Given the description of an element on the screen output the (x, y) to click on. 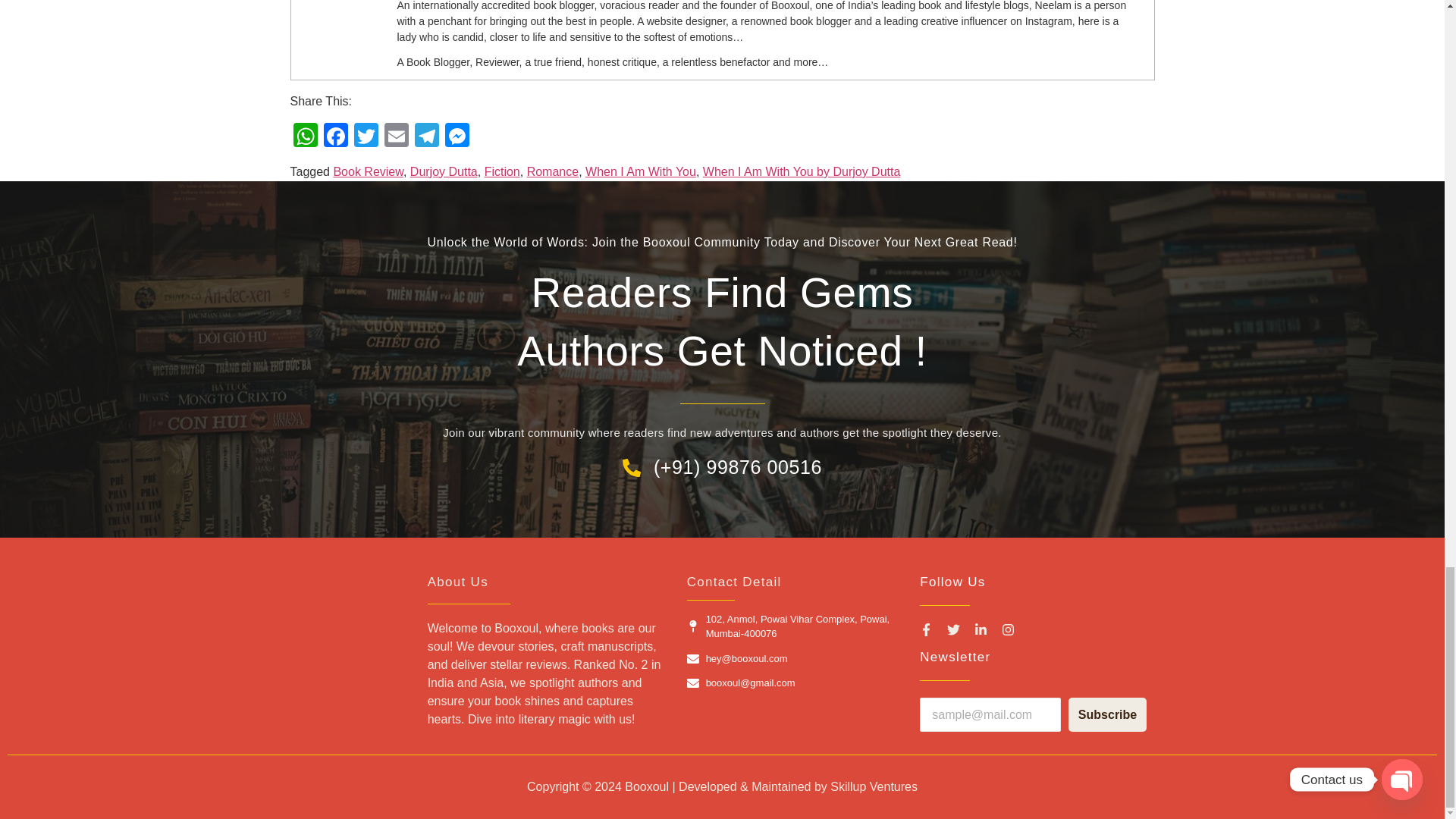
Twitter (365, 136)
Telegram (425, 136)
WhatsApp (304, 136)
Facebook (335, 136)
Email (395, 136)
